Given the description of an element on the screen output the (x, y) to click on. 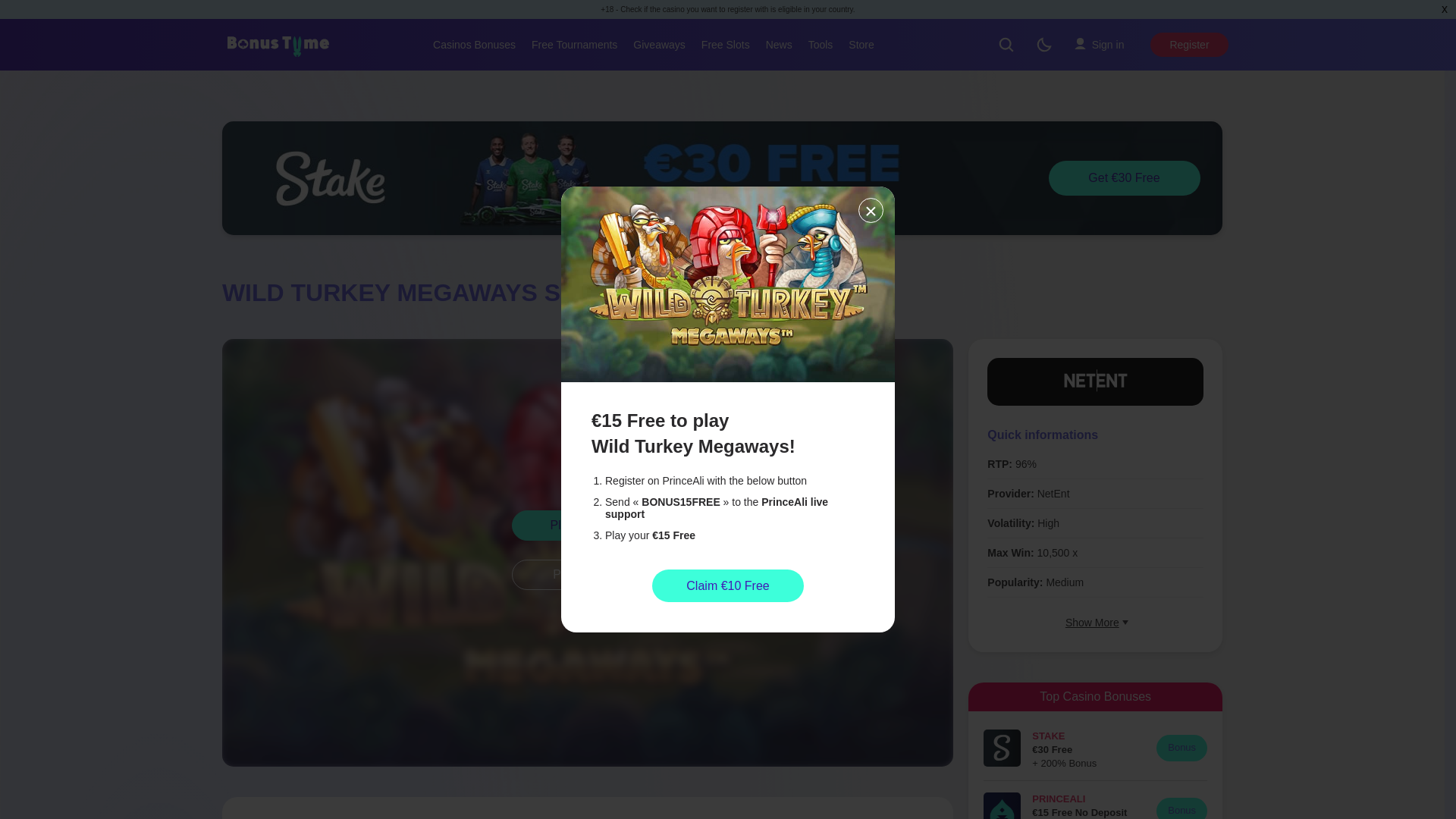
Sign in (1098, 43)
Giveaways (658, 43)
Register (1188, 43)
Free Tournaments (574, 43)
Casinos Bonuses (473, 43)
Free Slots (725, 43)
